Given the description of an element on the screen output the (x, y) to click on. 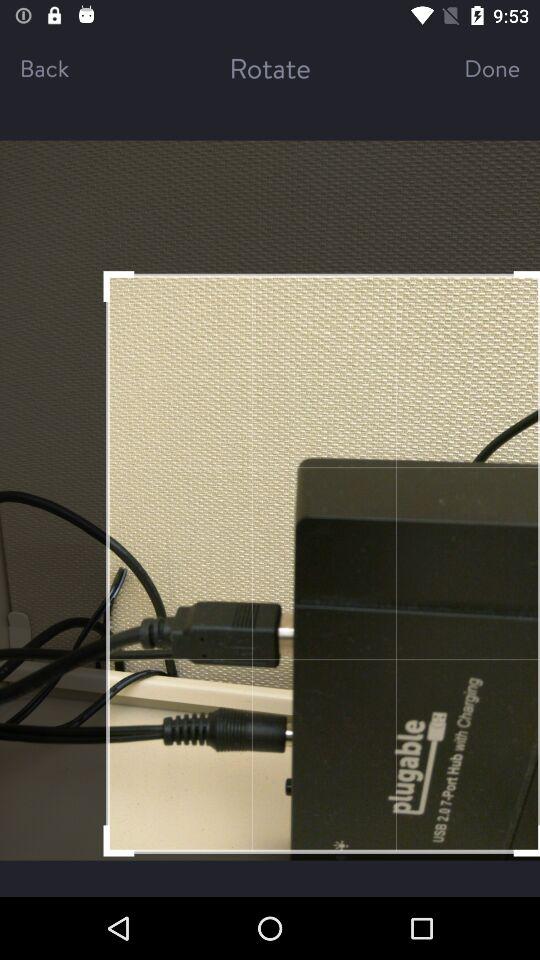
flip to the rotate icon (269, 67)
